Given the description of an element on the screen output the (x, y) to click on. 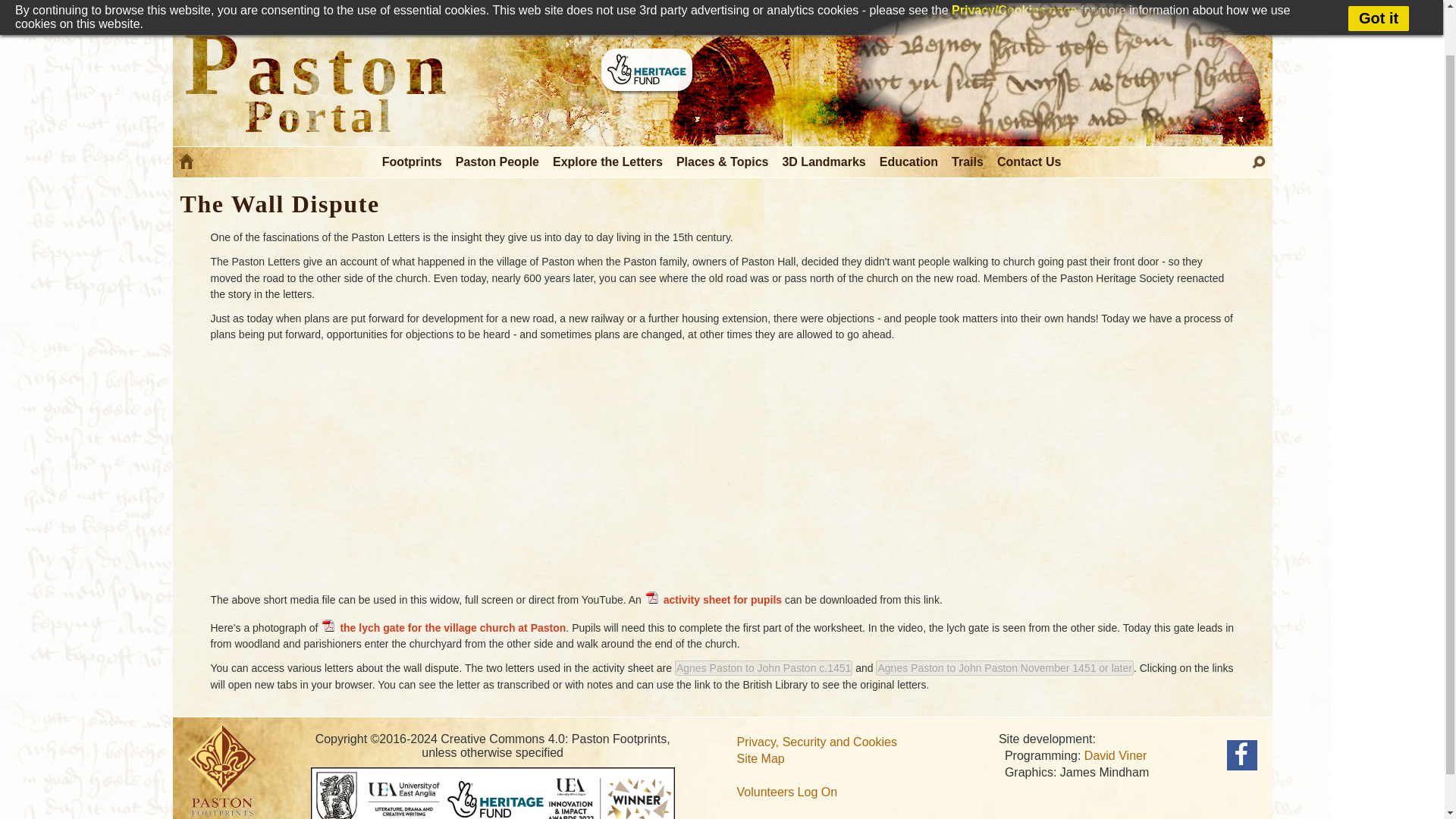
Paston People (497, 162)
Footprints (412, 162)
Education (909, 162)
Contact Us (1029, 162)
Education (909, 162)
Logo banner slideshow (1053, 71)
Agnes Paston to John Paston November 1451 or later (1004, 667)
Explore the Letters (608, 162)
Trails (968, 162)
Paston People (497, 162)
Agnes Paston to John Paston c.1451 (763, 667)
3D Landmarks (823, 162)
Home (186, 164)
Footprints (412, 162)
